Given the description of an element on the screen output the (x, y) to click on. 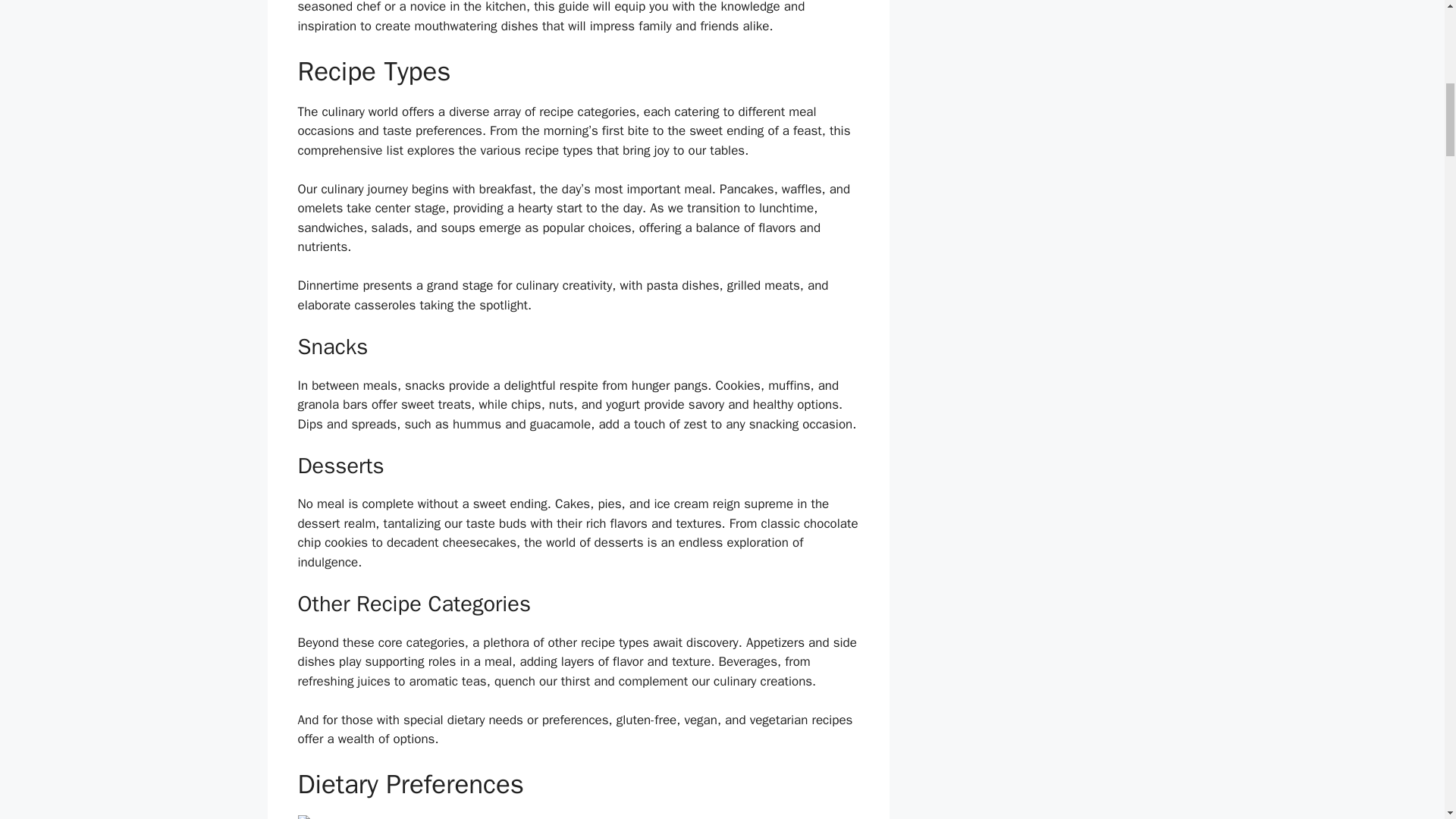
Scroll back to top (1406, 720)
